Given the description of an element on the screen output the (x, y) to click on. 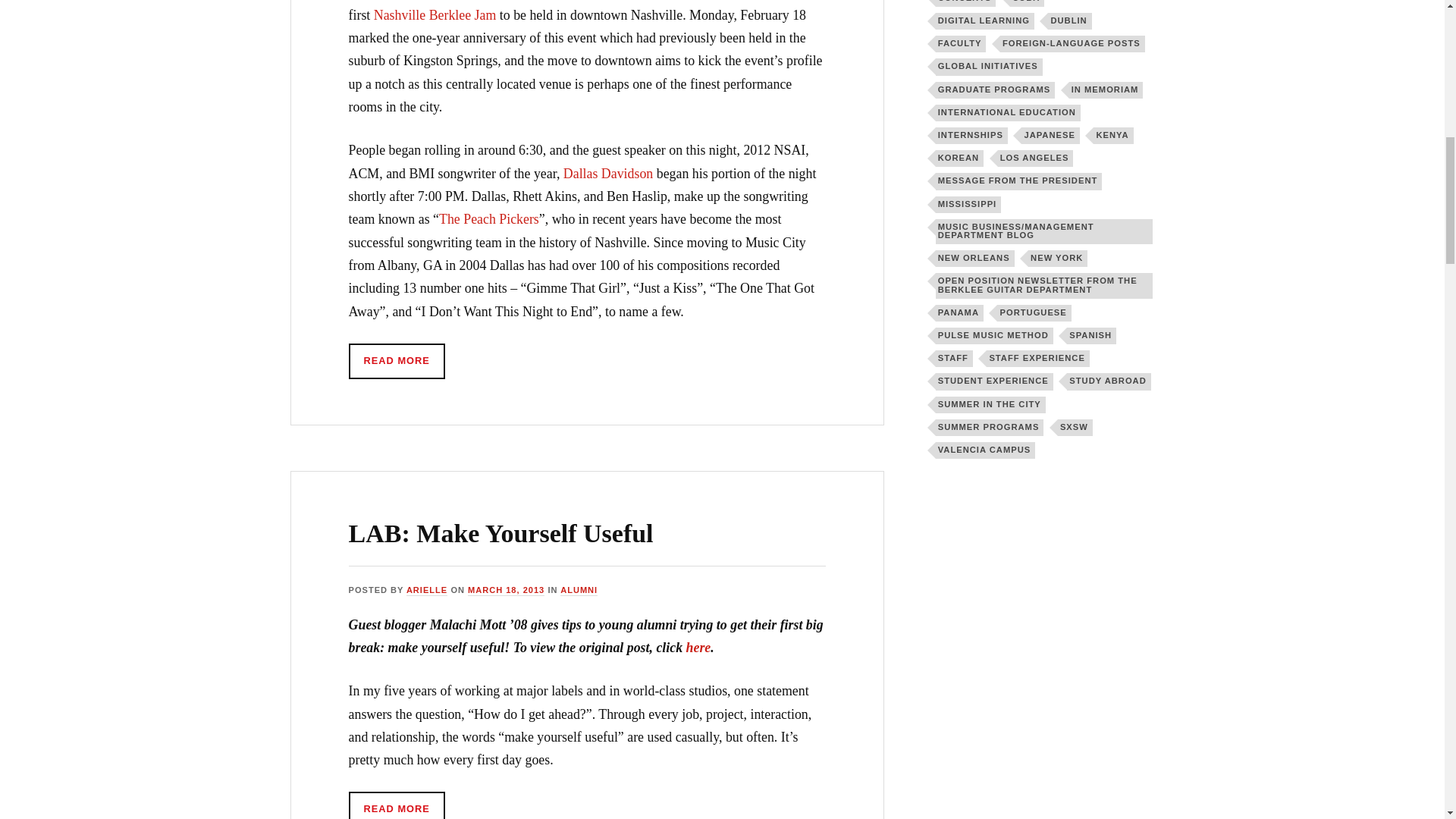
READ MORE (397, 361)
here (698, 647)
The Peach Pickers (488, 218)
Dallas Davidson (609, 173)
MARCH 18, 2013 (505, 590)
LAB: Make Yourself Useful (501, 533)
ALUMNI (578, 590)
Posts by Arielle (426, 590)
Nashville Berklee Jam (435, 14)
READ MORE (397, 805)
